Given the description of an element on the screen output the (x, y) to click on. 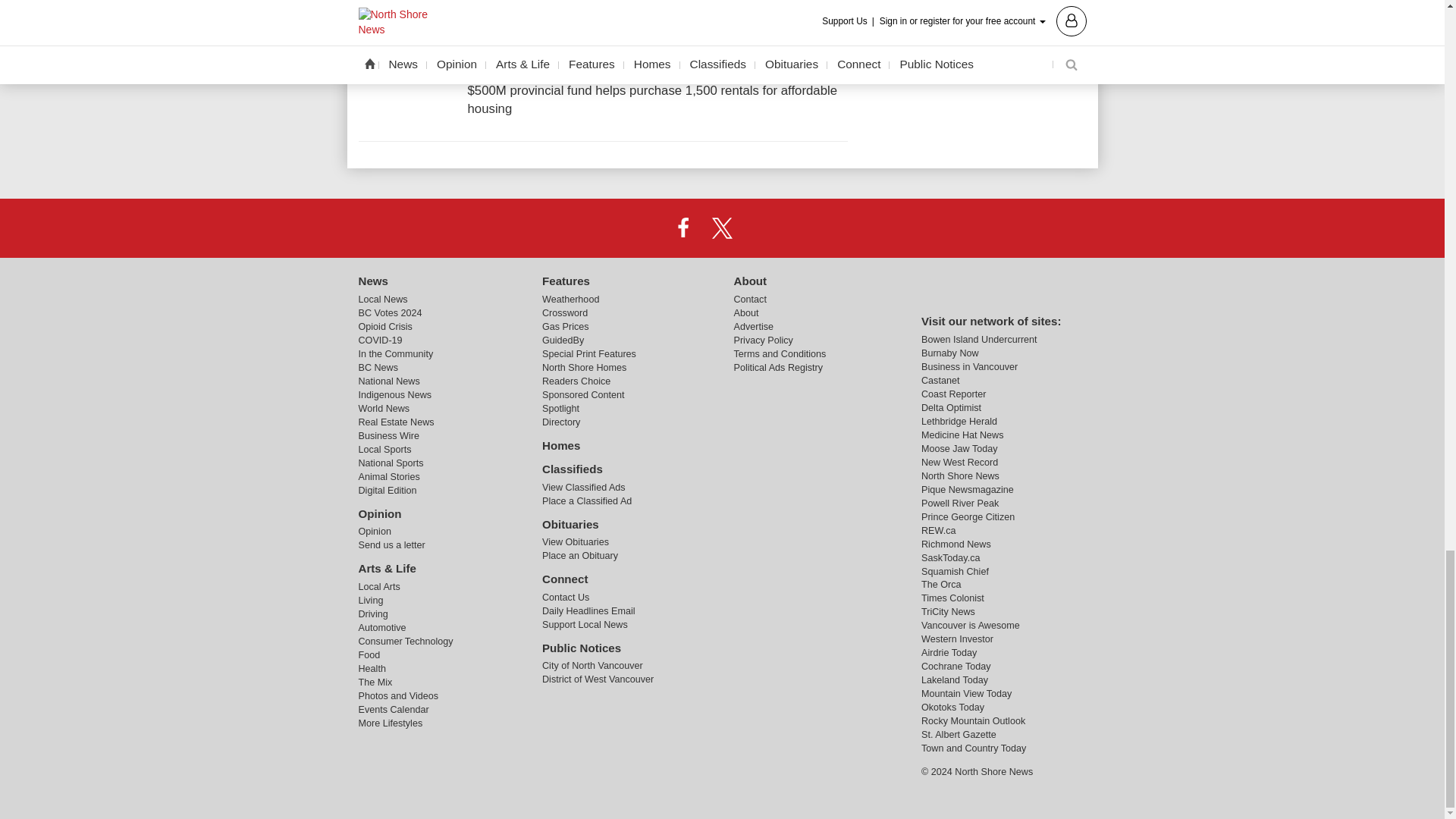
X (721, 227)
Instagram (760, 227)
Facebook (683, 227)
